Given the description of an element on the screen output the (x, y) to click on. 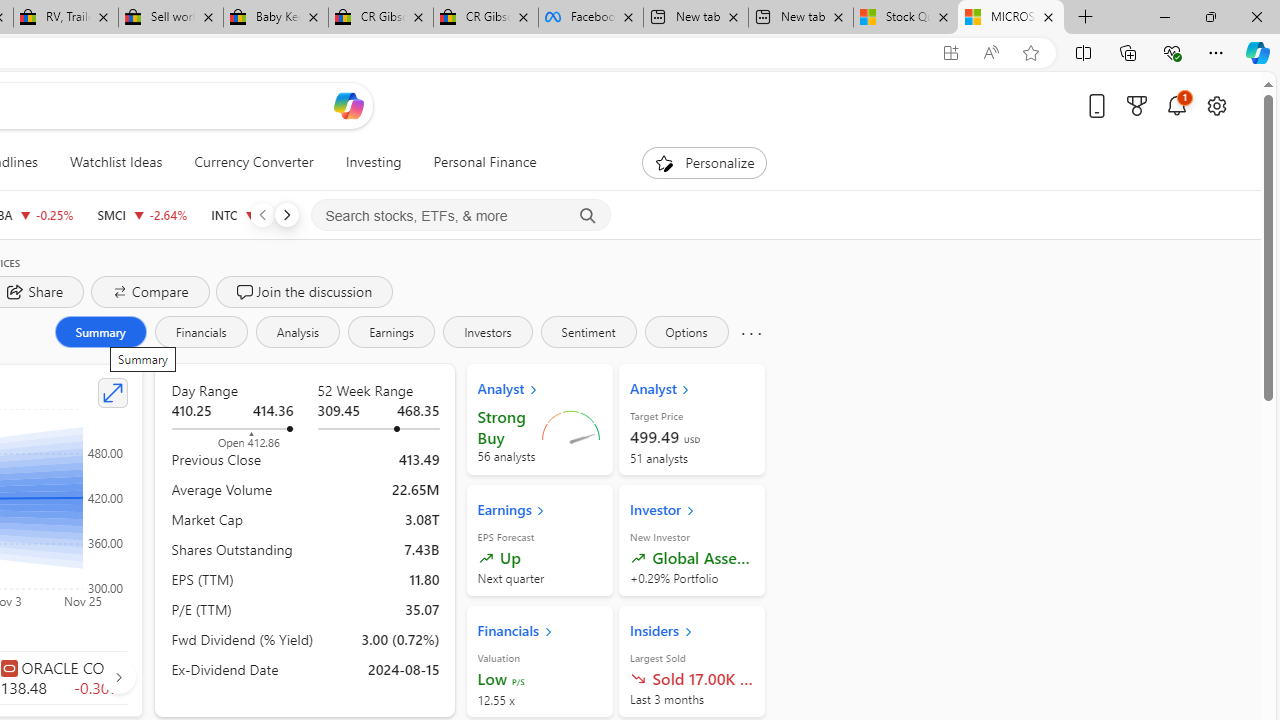
Analysis (297, 331)
Class: autoSuggestIcon-DS-EntryPoint1-2 (8, 667)
Open Copilot (347, 105)
Class: card_head_icon_lightMode-DS-EntryPoint1-1 (687, 631)
Currency Converter (253, 162)
Personalize (703, 162)
AutomationID: finance_carousel_navi_arrow (118, 676)
Summary (100, 331)
RV, Trailer & Camper Steps & Ladders for sale | eBay (65, 17)
Financials (200, 331)
New tab (800, 17)
Investing (373, 162)
Baby Keepsakes & Announcements for sale | eBay (275, 17)
